Given the description of an element on the screen output the (x, y) to click on. 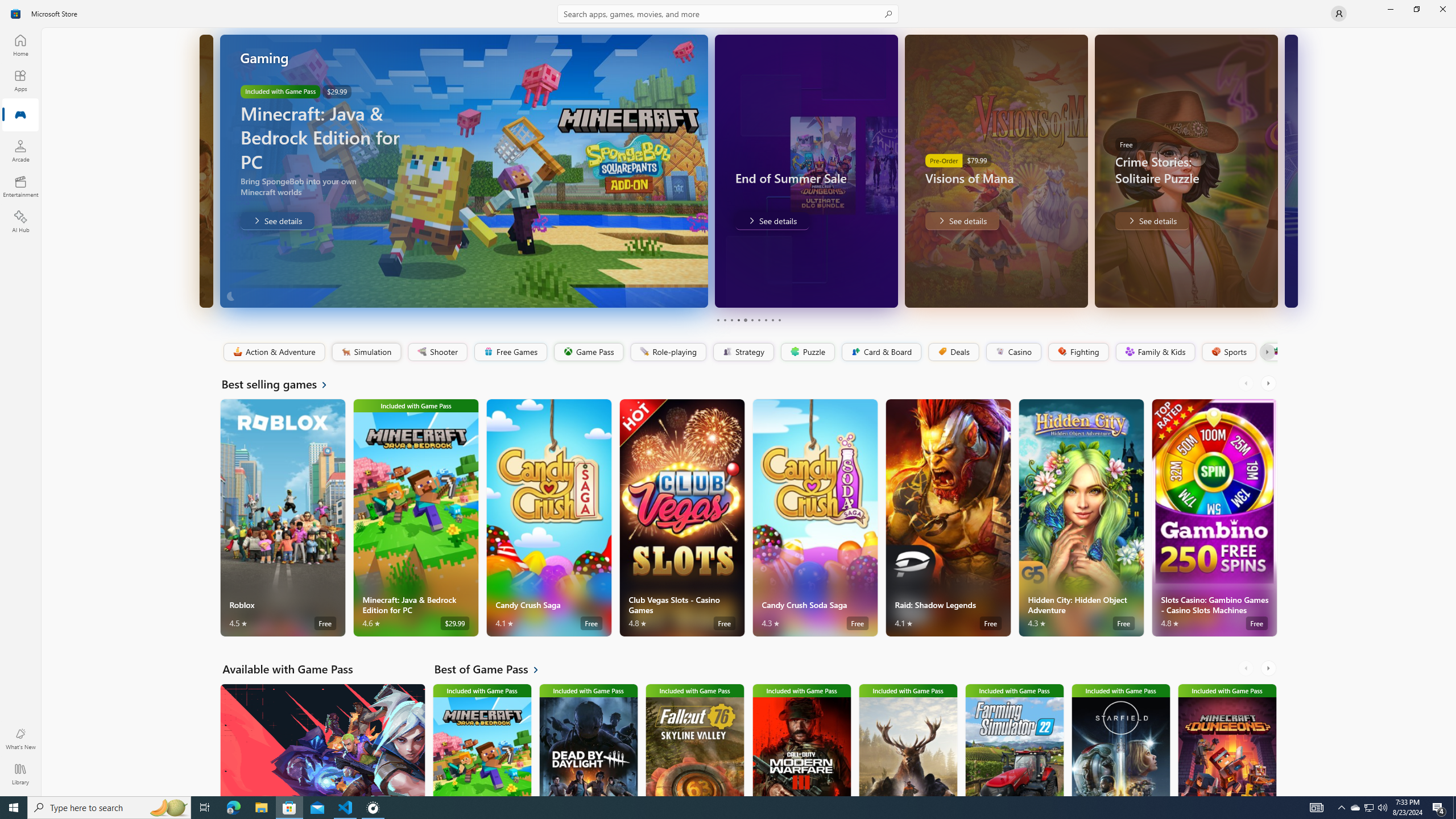
Page 9 (772, 319)
Family & Kids (1154, 352)
Card & Board (880, 352)
Free Games (509, 352)
Restore Microsoft Store (1416, 9)
Action & Adventure (273, 352)
Close Microsoft Store (1442, 9)
Page 10 (779, 319)
